Given the description of an element on the screen output the (x, y) to click on. 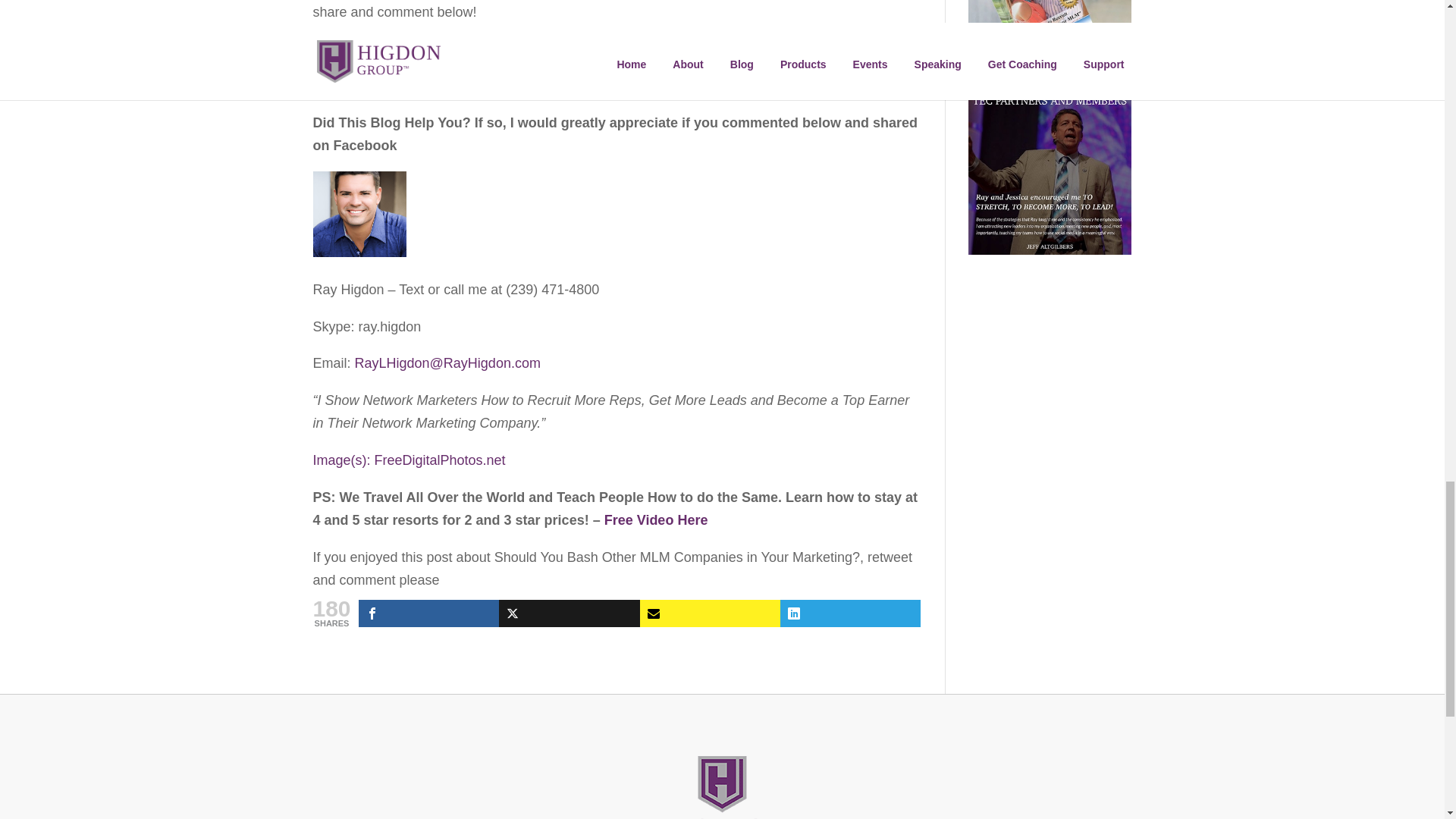
higdon-group-footer-logo (721, 787)
Twitter (569, 613)
Facebook (428, 613)
Free Video Here (655, 519)
